Given the description of an element on the screen output the (x, y) to click on. 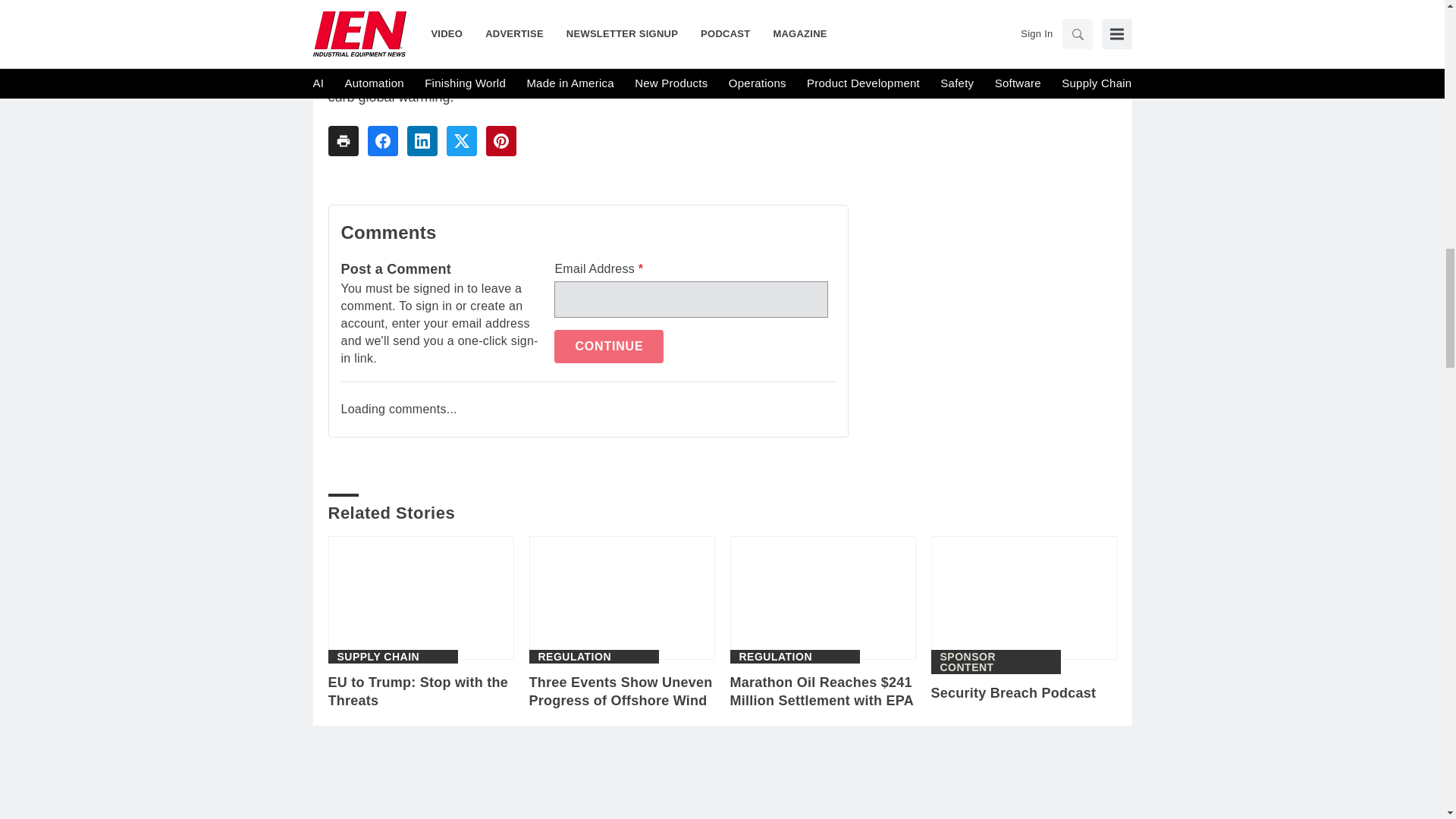
Share To linkedin (421, 141)
Share To facebook (381, 141)
Share To print (342, 141)
Share To pinterest (499, 141)
Share To twitter (460, 141)
